Given the description of an element on the screen output the (x, y) to click on. 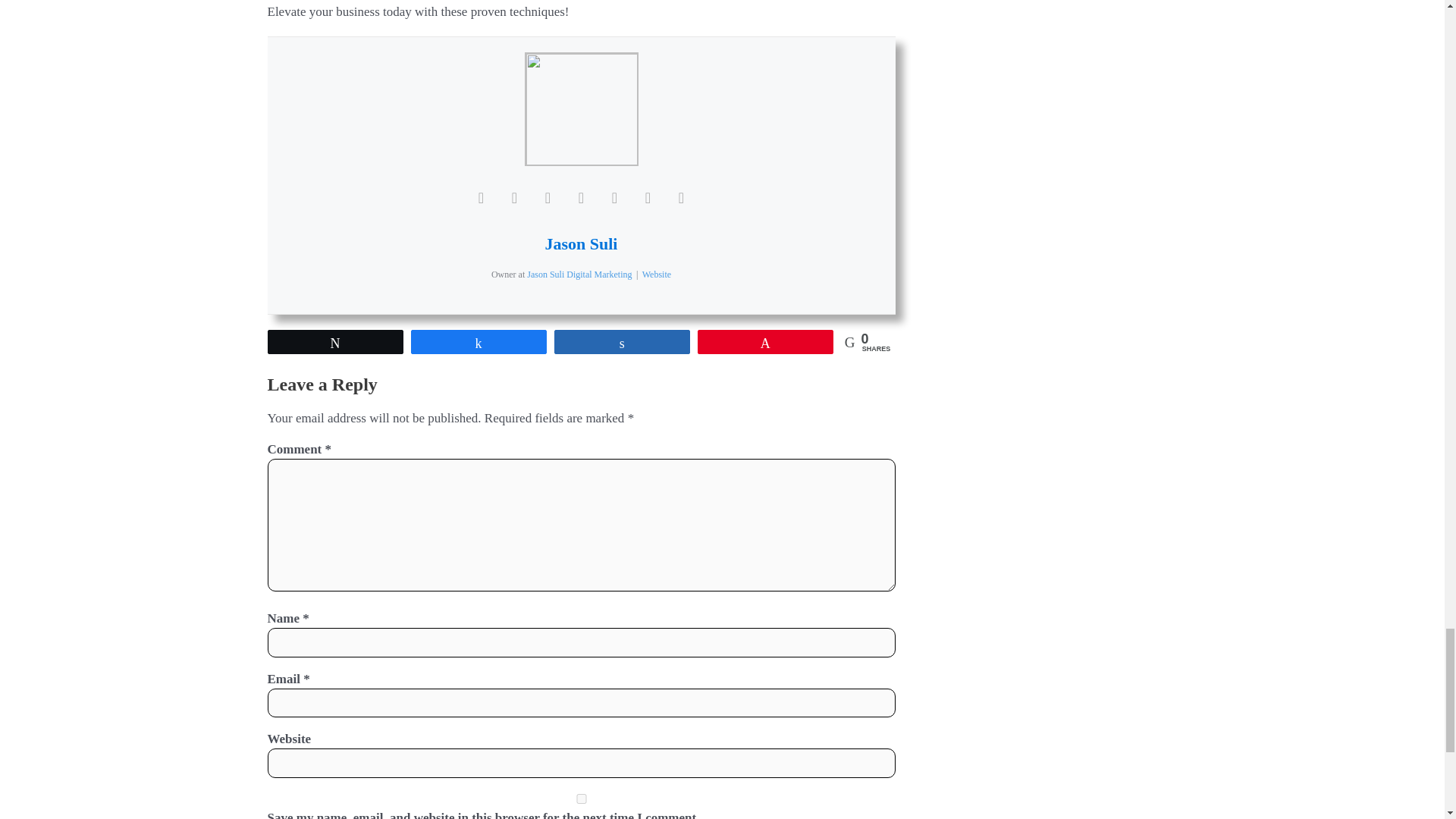
yes (580, 798)
